Given the description of an element on the screen output the (x, y) to click on. 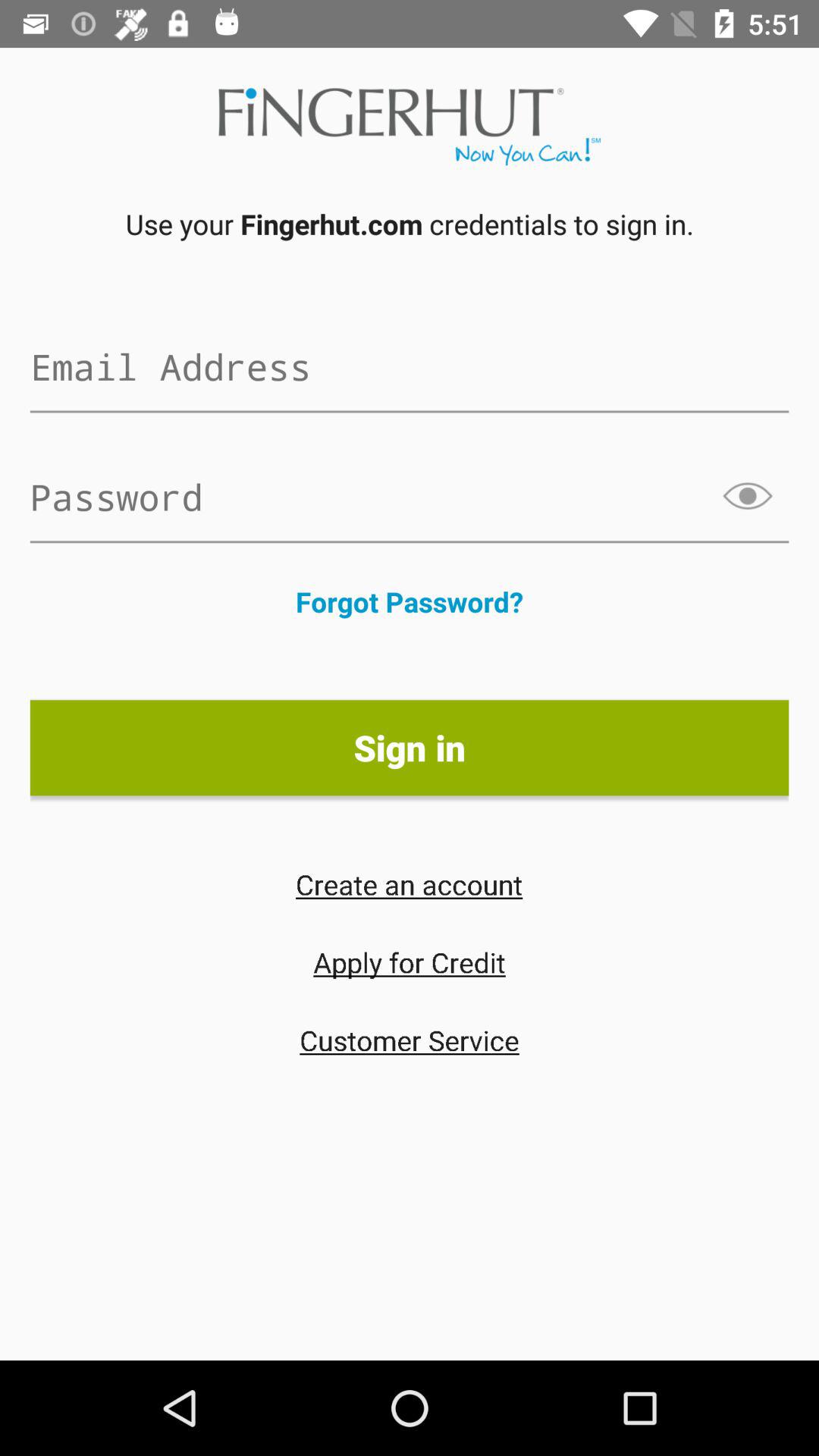
launch the icon below use your fingerhut item (409, 366)
